Given the description of an element on the screen output the (x, y) to click on. 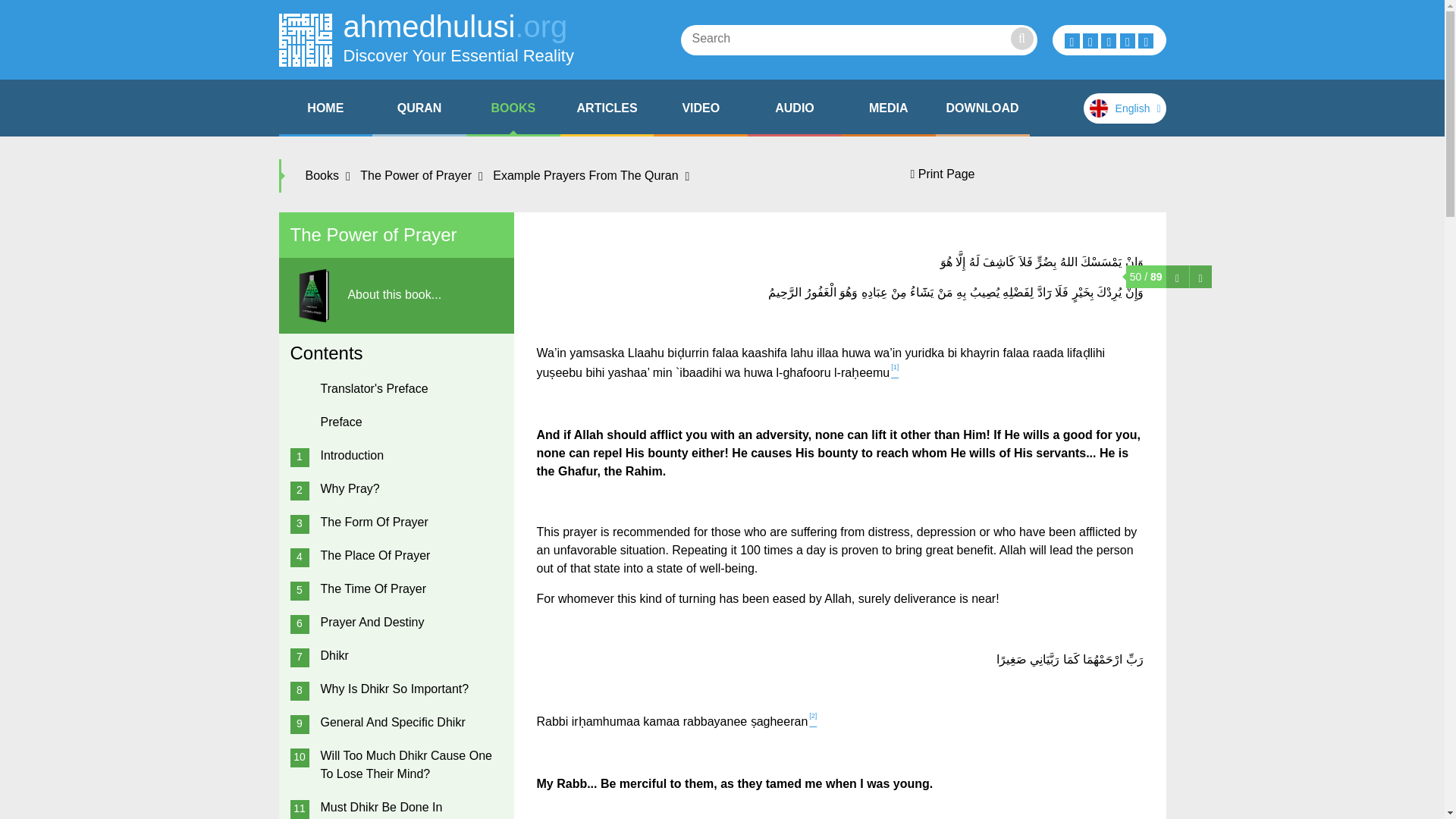
Video (700, 107)
MEDIA (888, 107)
QURAN (426, 39)
BOOKS (418, 107)
Books (512, 107)
HOME (512, 107)
DOWNLOAD (325, 107)
Articles (982, 107)
Media (606, 107)
VIDEO (888, 107)
Quran (700, 107)
Download (418, 107)
ARTICLES (982, 107)
Audio (606, 107)
